Given the description of an element on the screen output the (x, y) to click on. 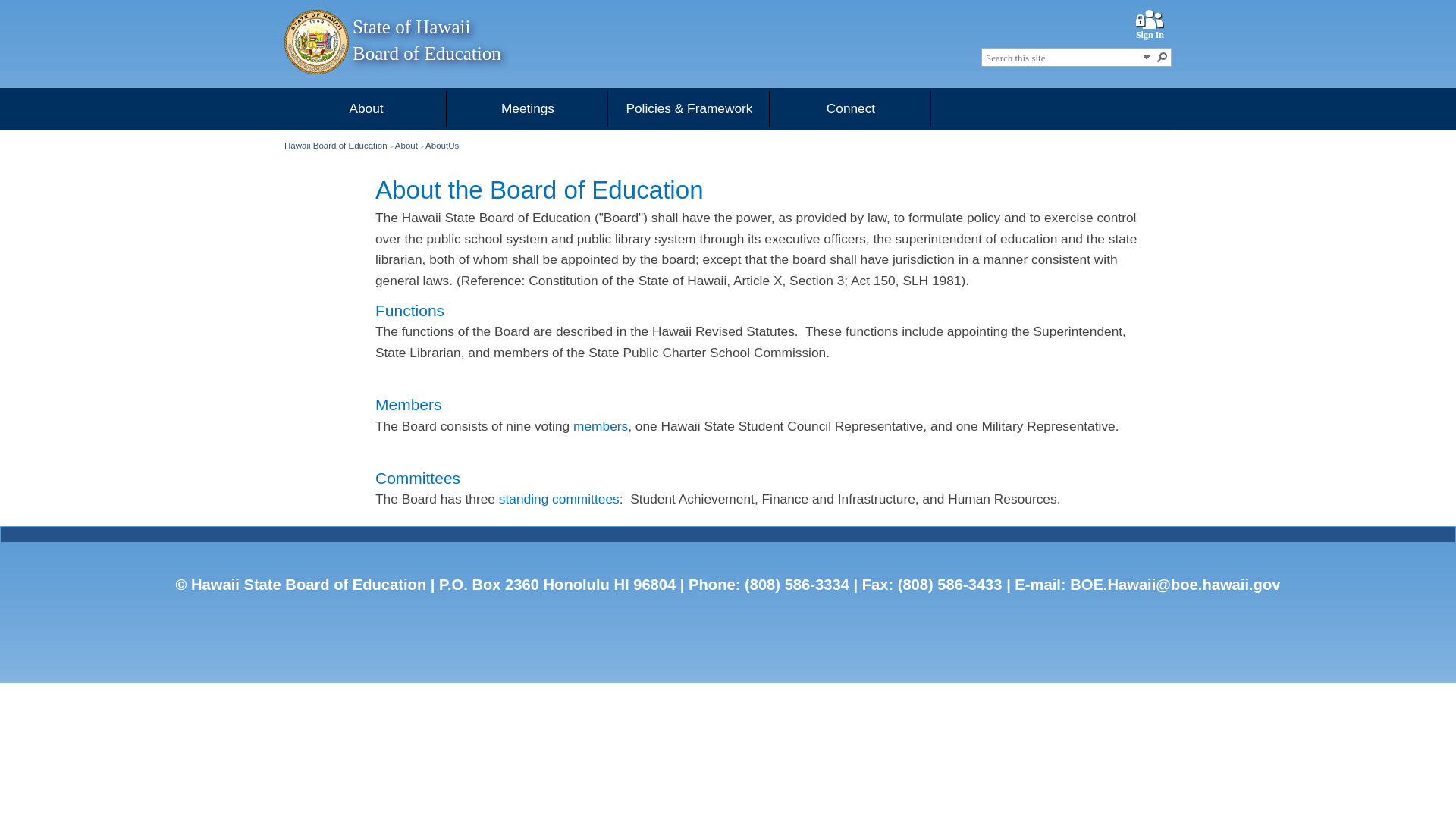
Search this site (1061, 58)
Search this site (1061, 58)
About (365, 108)
Search (1162, 56)
Meetings (527, 108)
Navigation (1146, 56)
Hawaii Board of Education (335, 144)
Connect (850, 108)
AboutUs (441, 144)
About (405, 144)
Sign In (1149, 34)
